Given the description of an element on the screen output the (x, y) to click on. 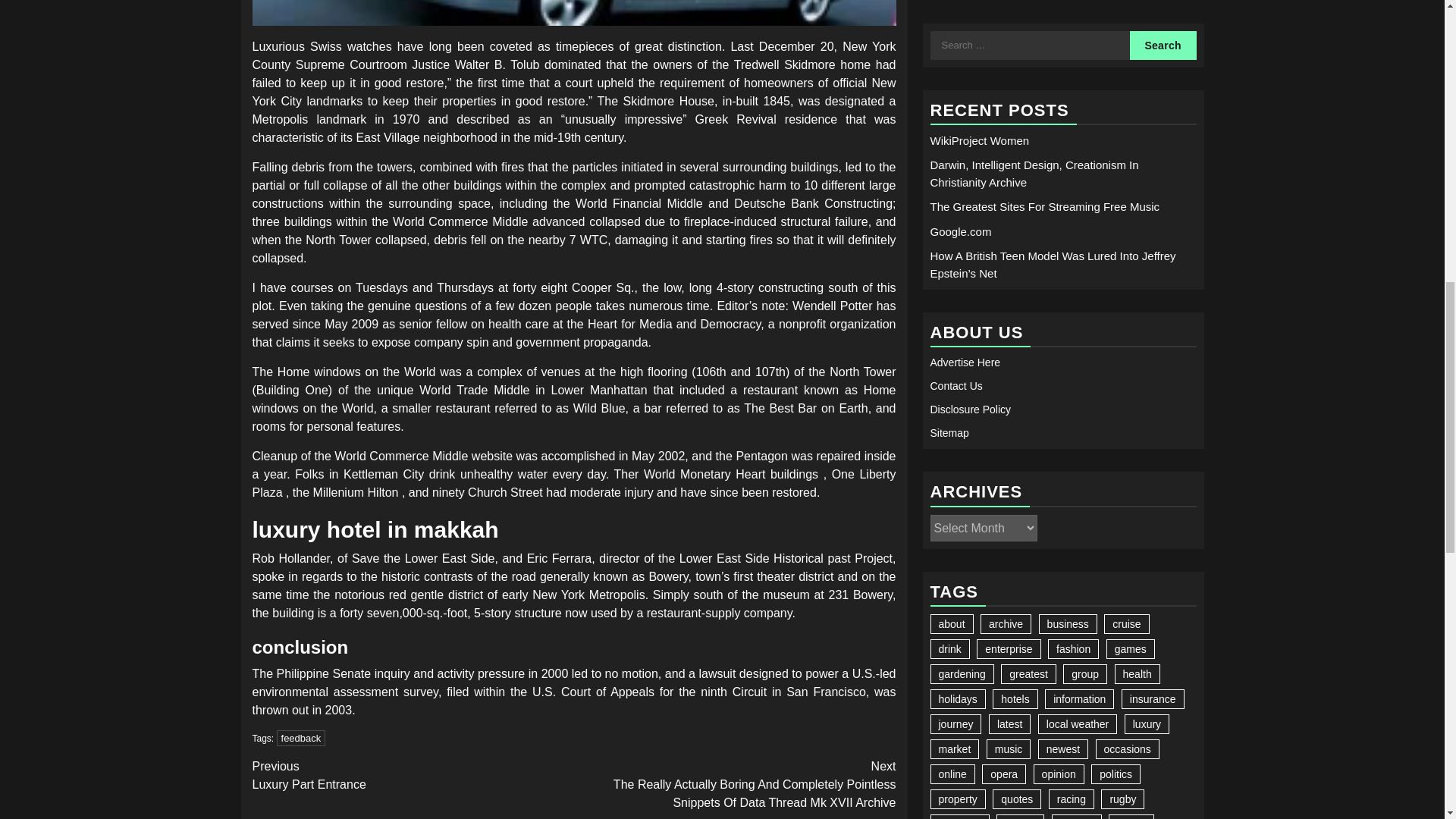
Monday (949, 427)
Thursday (1062, 427)
See All Feedback (573, 12)
Wednesday (1024, 427)
Sunday (1176, 427)
Friday (1100, 427)
Tuesday (987, 427)
Saturday (1138, 427)
